Given the description of an element on the screen output the (x, y) to click on. 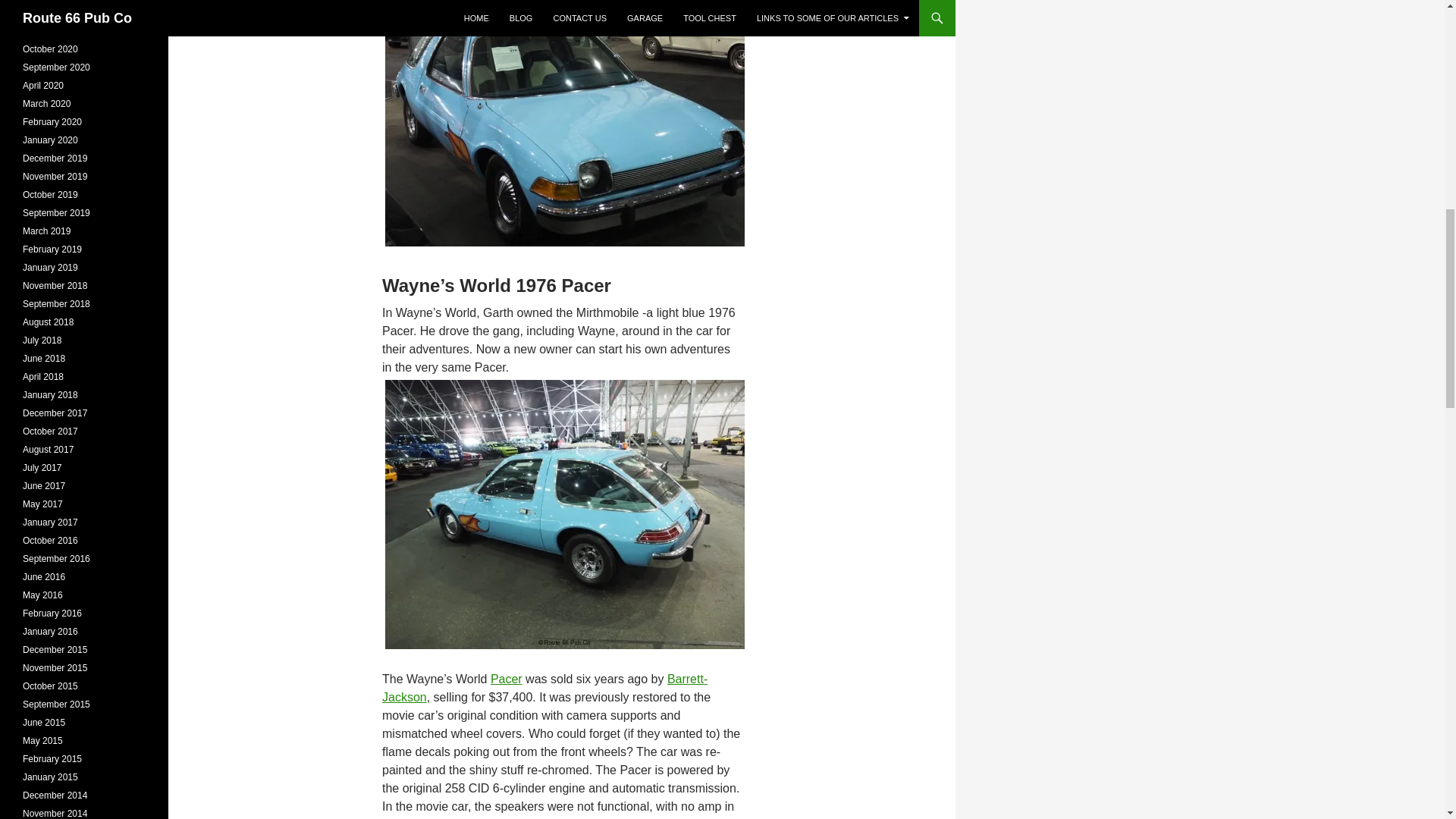
Barrett-Jackson (544, 687)
Pacer (506, 678)
